Given the description of an element on the screen output the (x, y) to click on. 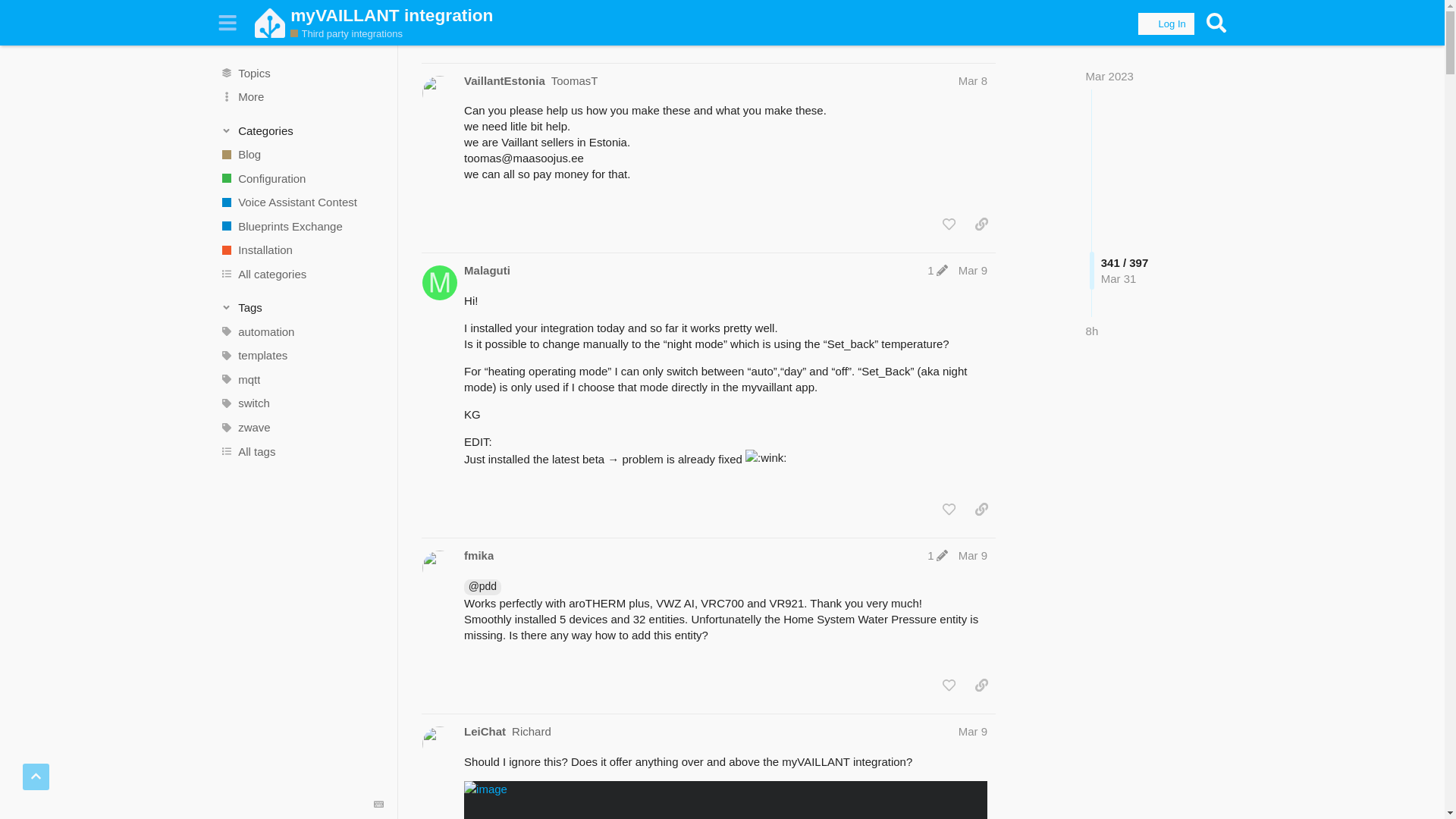
Toggle section (301, 130)
Tags (301, 307)
Categories (301, 130)
Search (1215, 22)
Blog (301, 154)
switch (301, 403)
Sidebar (227, 22)
Mar 2023 (1110, 75)
More (301, 96)
Blueprints Exchange (301, 225)
All topics (301, 72)
Configuration (301, 178)
